Given the description of an element on the screen output the (x, y) to click on. 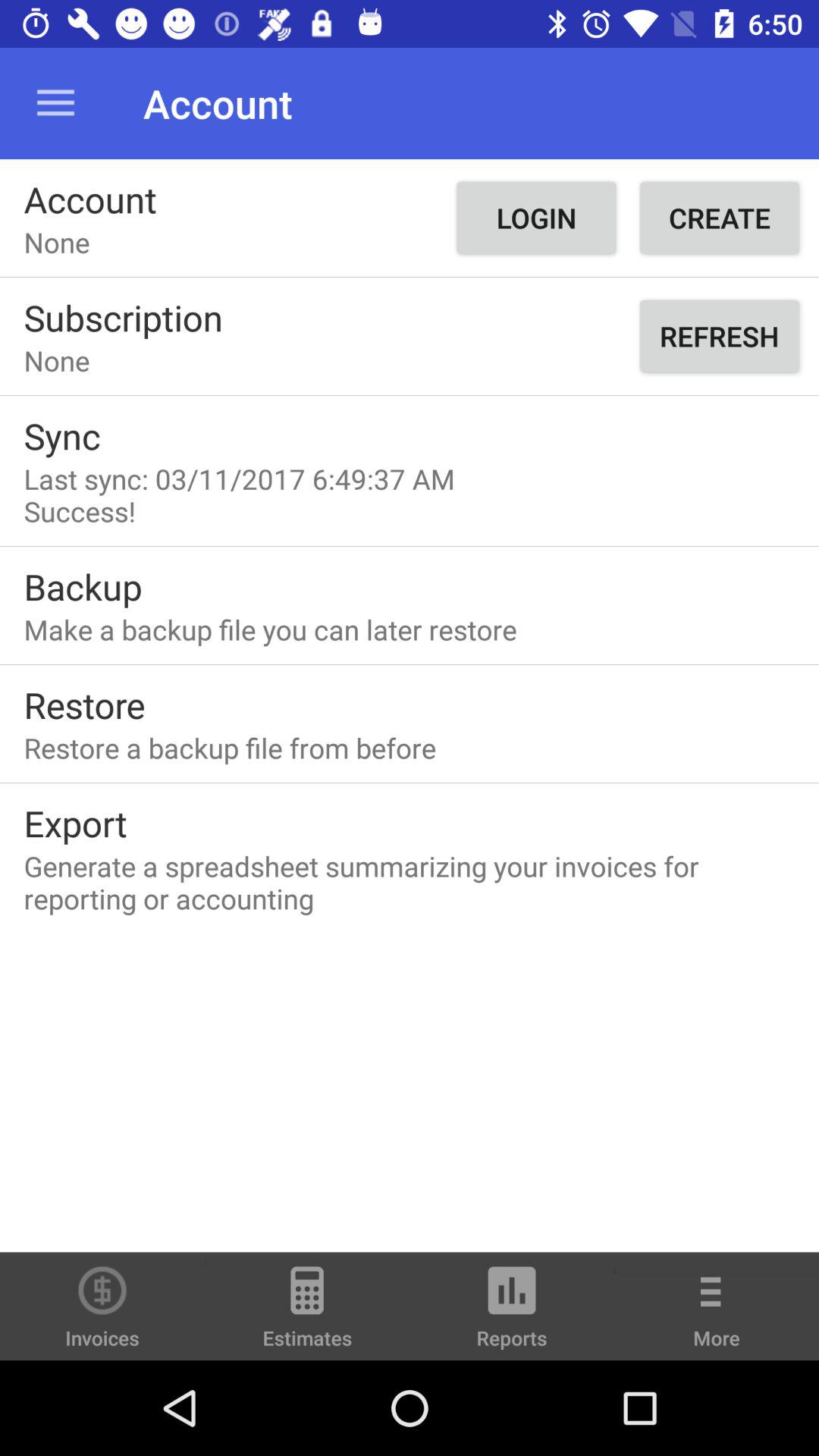
choose the item next to the reports (716, 1317)
